Given the description of an element on the screen output the (x, y) to click on. 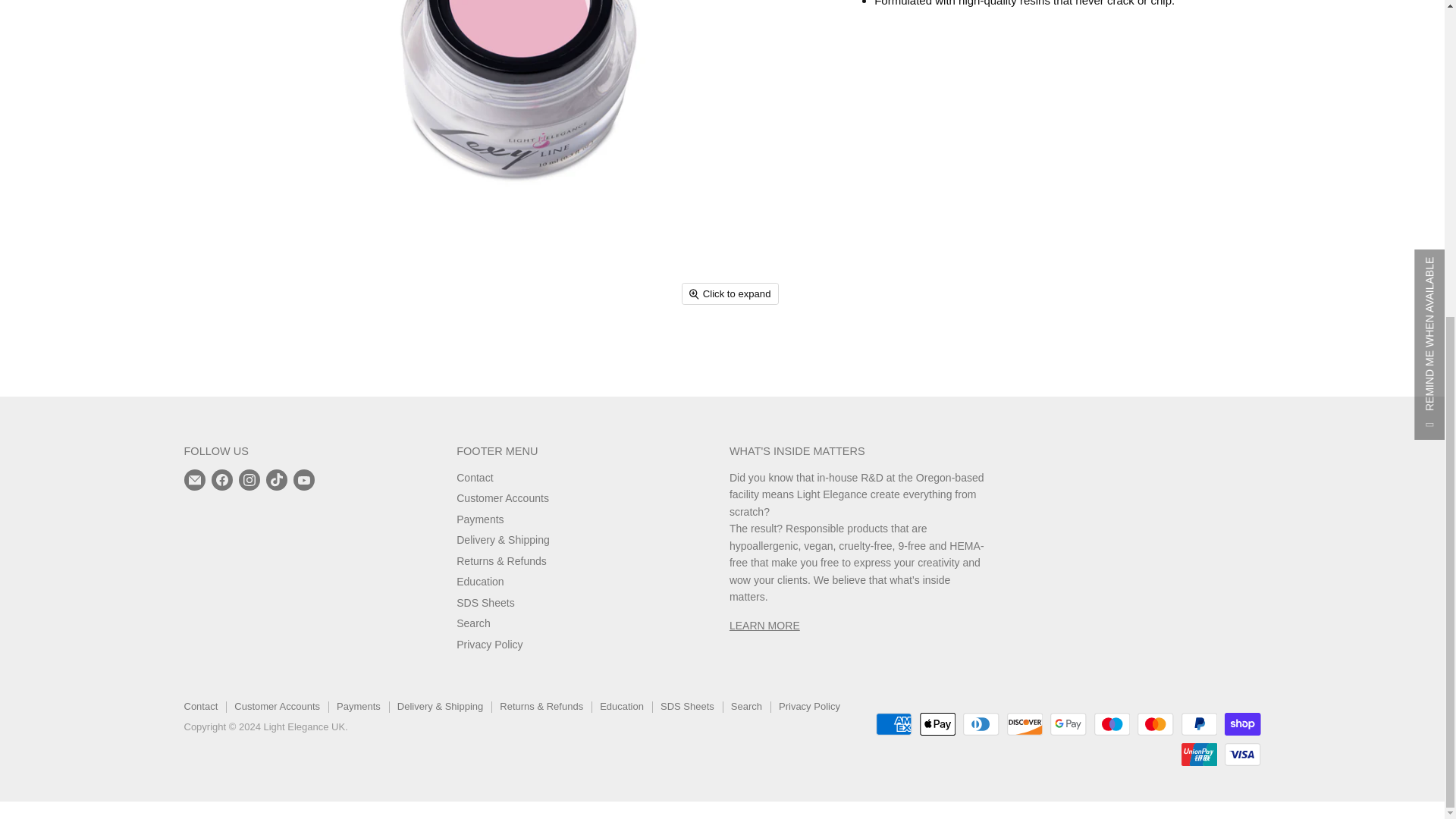
Instagram (248, 479)
TikTok (275, 479)
E-mail (194, 479)
YouTube (303, 479)
Facebook (221, 479)
About Light Elegance (764, 625)
